Given the description of an element on the screen output the (x, y) to click on. 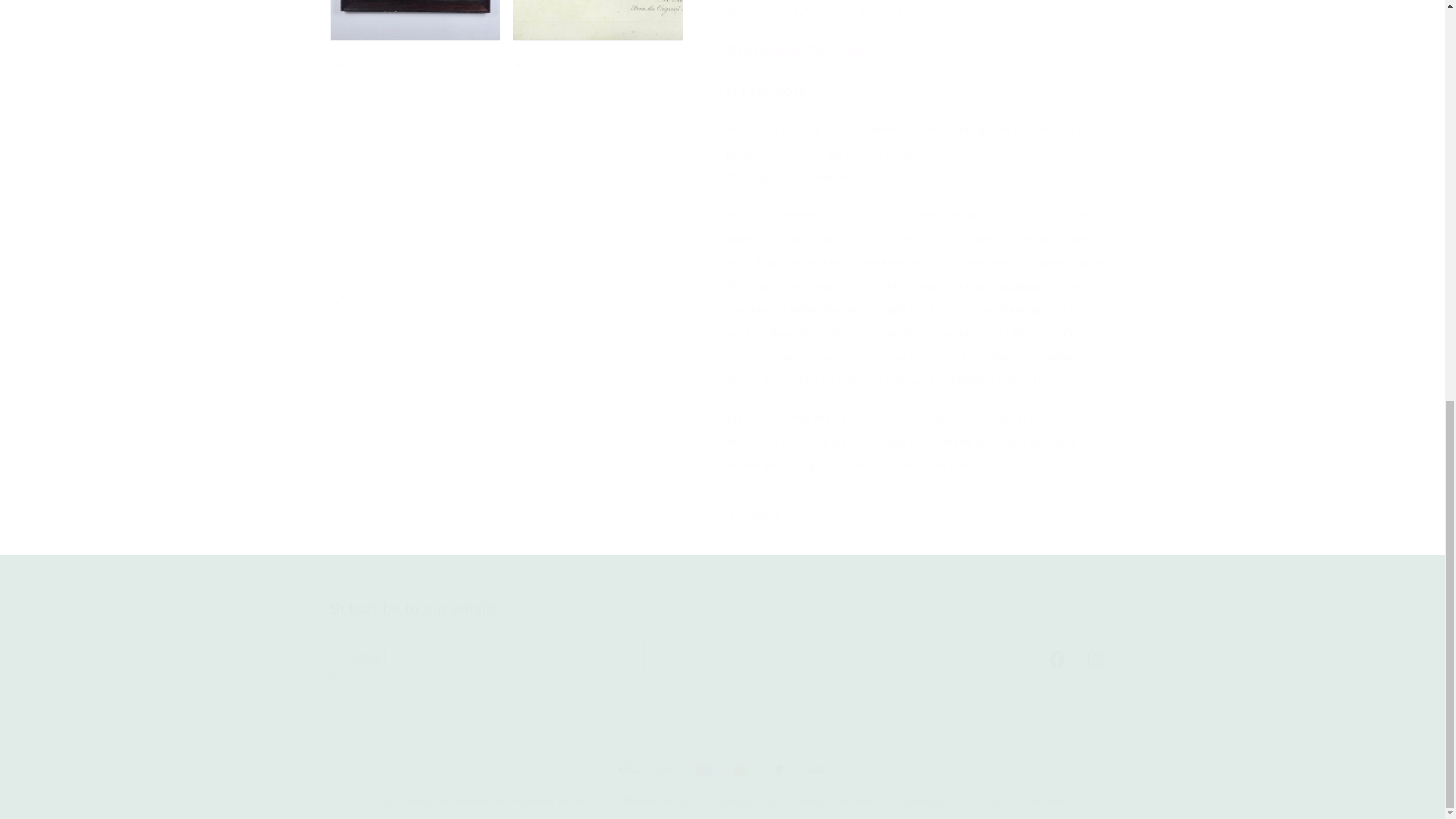
Open media 2 in modal (415, 11)
Open media 3 in modal (722, 638)
